Given the description of an element on the screen output the (x, y) to click on. 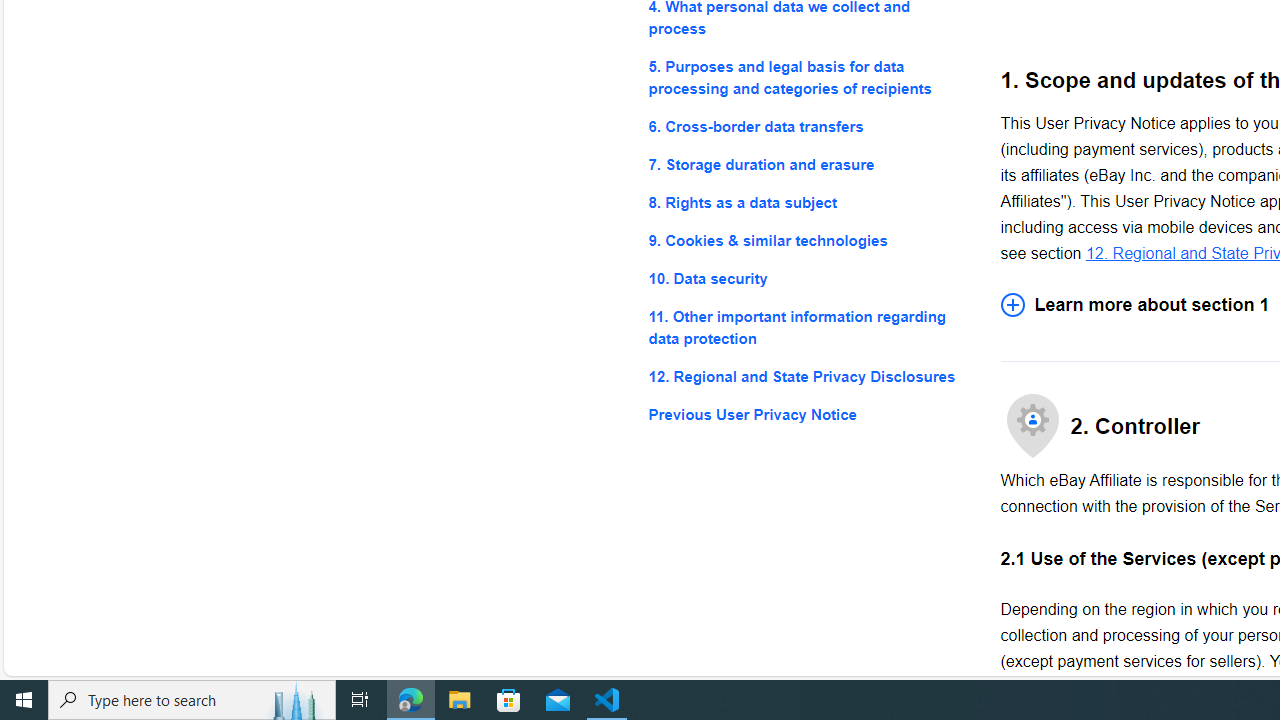
9. Cookies & similar technologies (807, 240)
7. Storage duration and erasure (807, 164)
9. Cookies & similar technologies (807, 240)
